Given the description of an element on the screen output the (x, y) to click on. 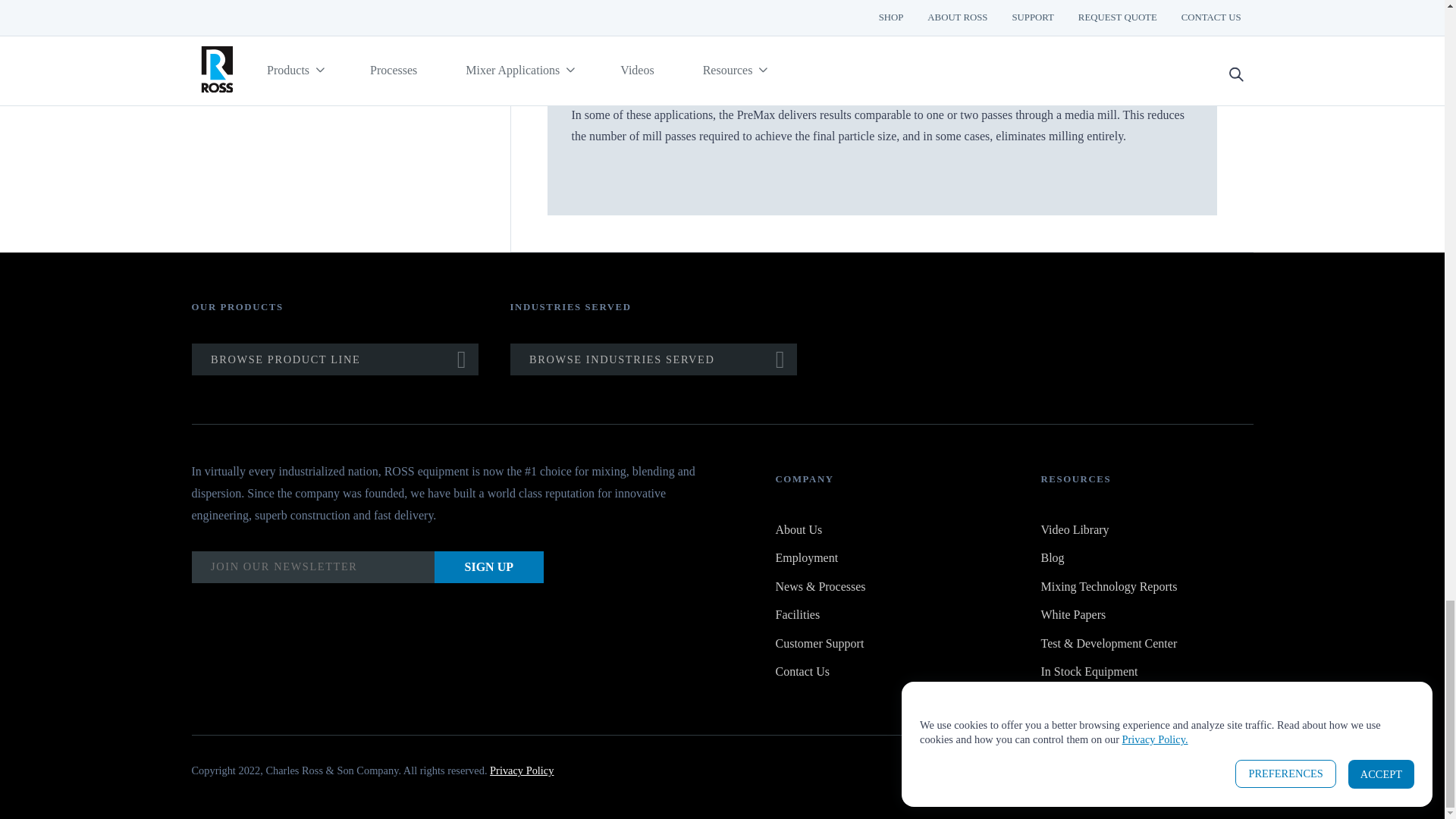
Twitter Page (1197, 773)
Facebook Link (1123, 773)
LinkedIn Profile (1160, 773)
Youtube Profile (1234, 773)
